Given the description of an element on the screen output the (x, y) to click on. 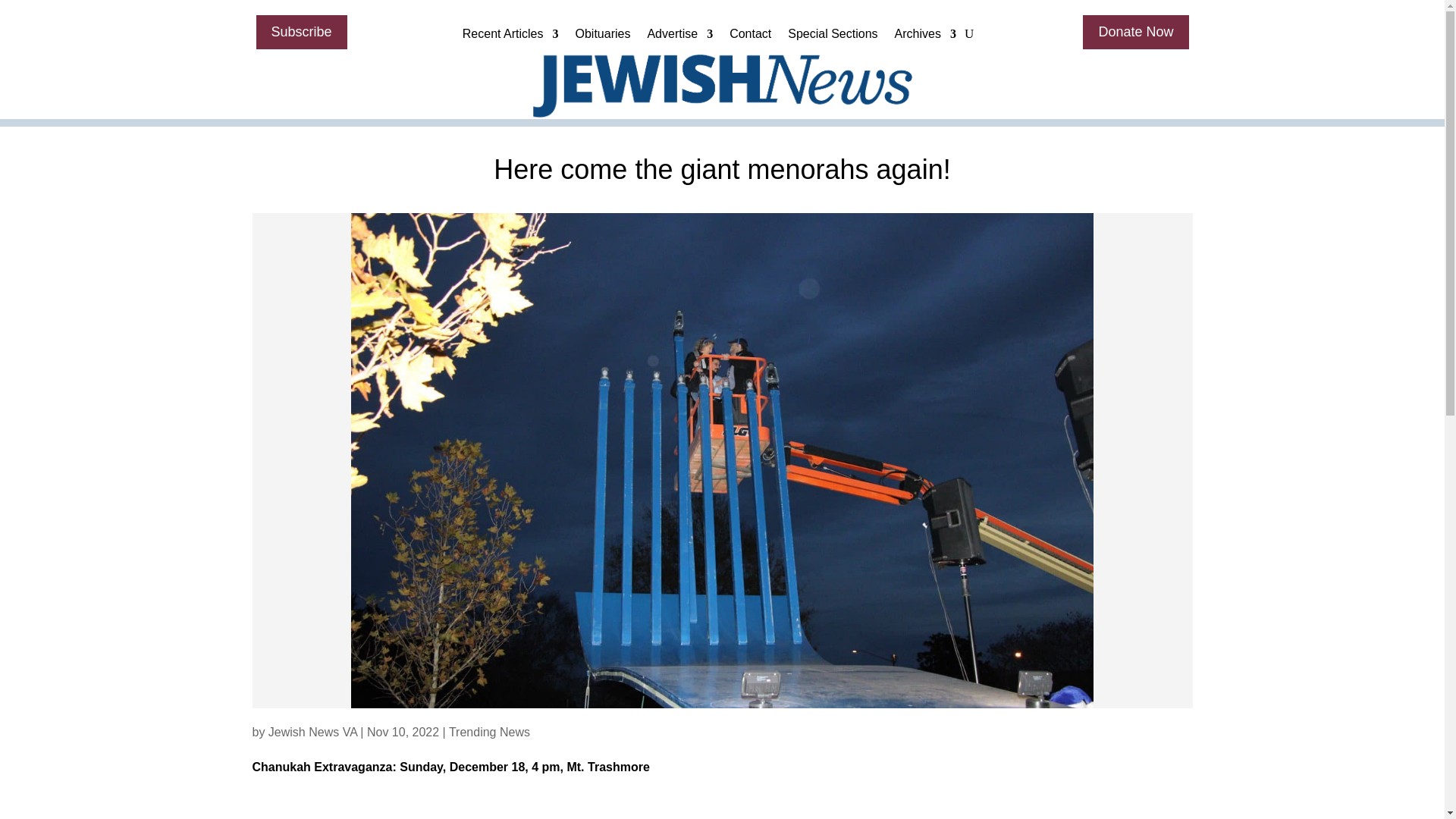
Donate Now (1135, 32)
Advertise (679, 37)
Subscribe (301, 32)
Special Sections (832, 37)
Recent Articles (511, 37)
Obituaries (602, 37)
Archives (925, 37)
Contact (750, 37)
Posts by Jewish News VA (311, 731)
